Given the description of an element on the screen output the (x, y) to click on. 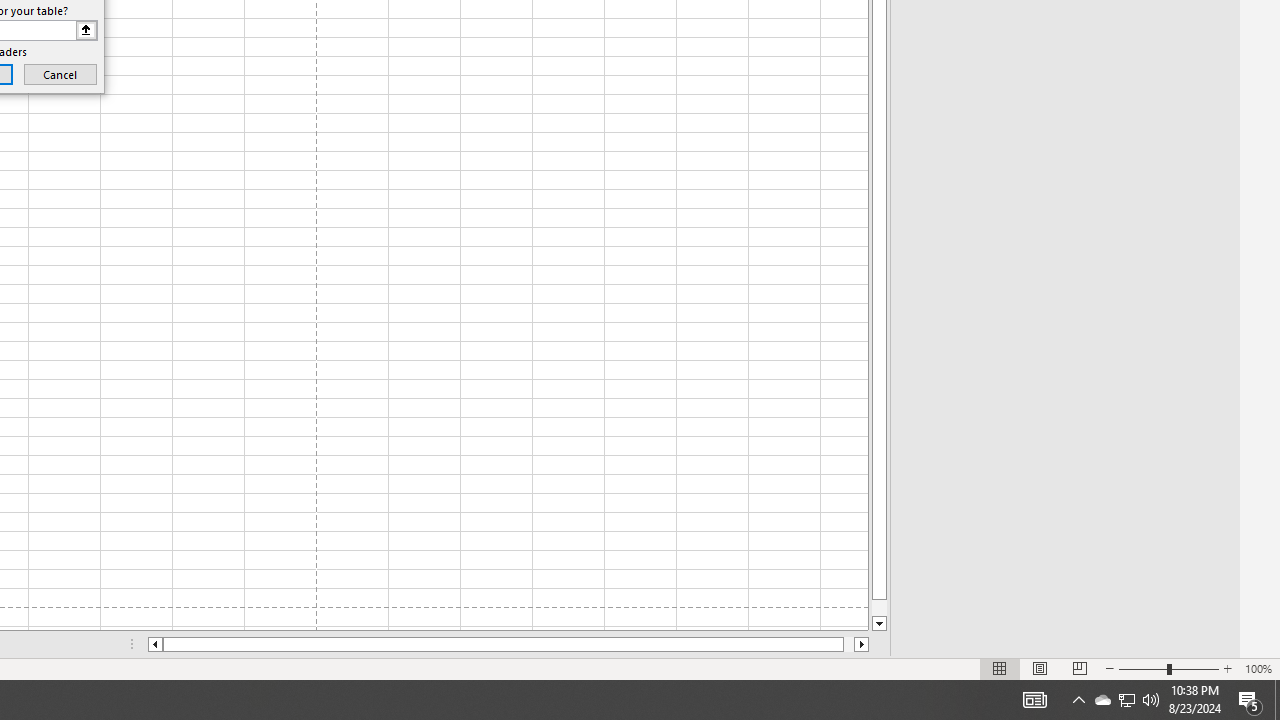
Page right (848, 644)
Page down (879, 607)
